Given the description of an element on the screen output the (x, y) to click on. 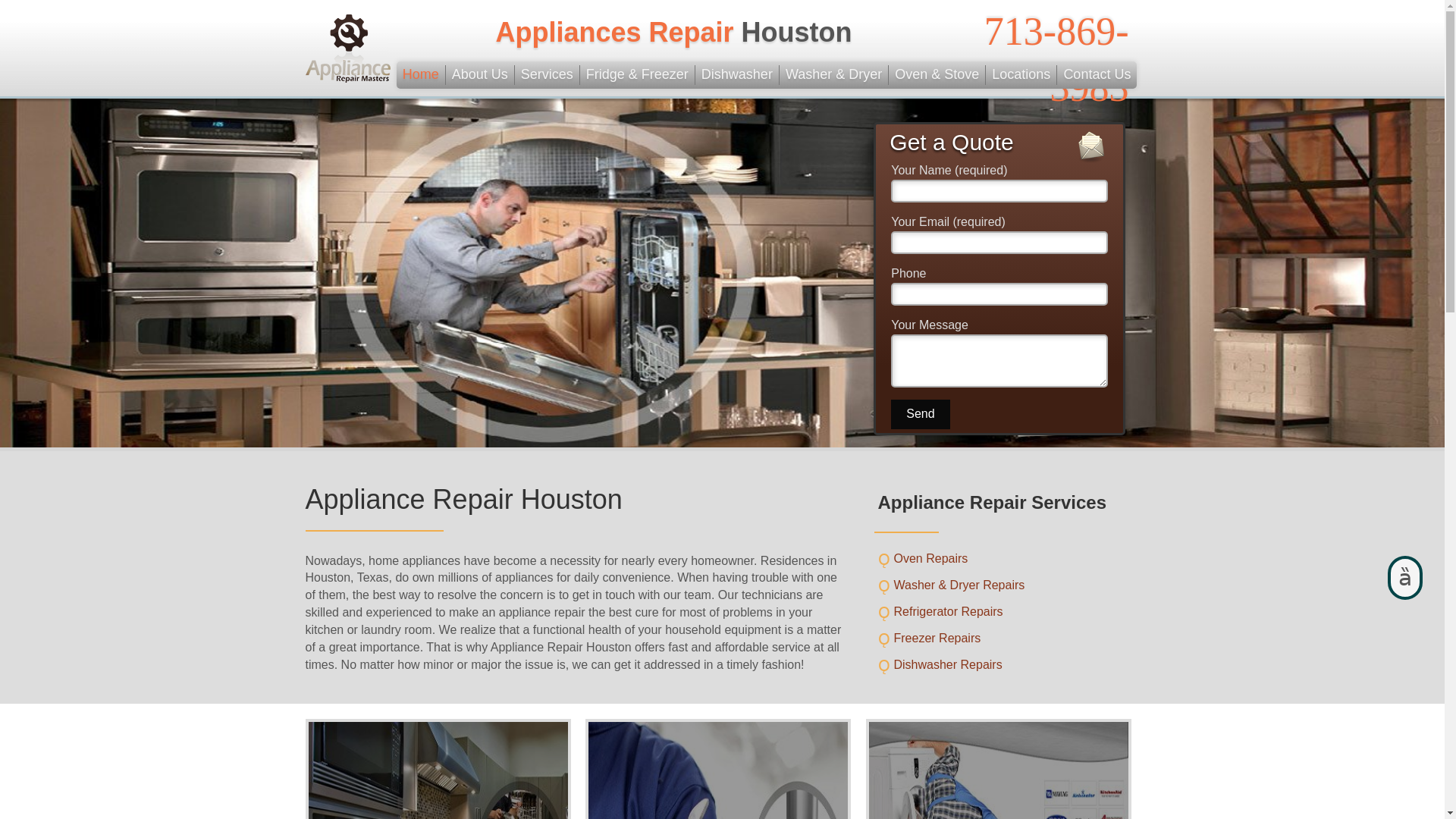
Services (547, 75)
Locations (1021, 75)
About Us (480, 75)
Dishwasher (736, 75)
Send (920, 414)
713-869-3983 (1056, 58)
Home (420, 75)
Send (920, 414)
Contact Us (1097, 75)
